Given the description of an element on the screen output the (x, y) to click on. 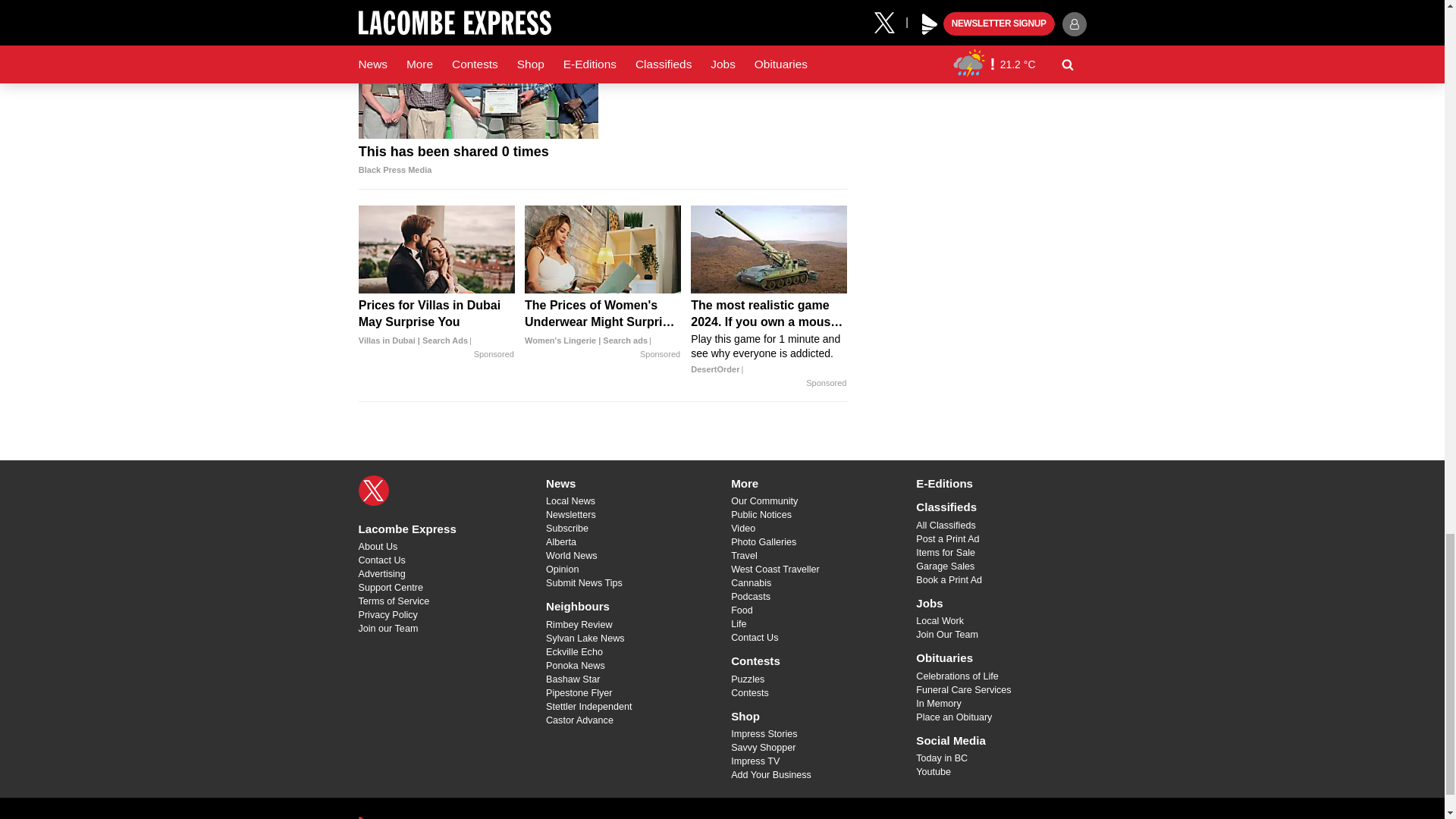
The Prices of Women's Underwear Might Surprise You (602, 322)
Prices for Villas in Dubai May Surprise You (436, 249)
Prices for Villas in Dubai May Surprise You (436, 322)
This has been shared 0 times (478, 160)
This has been shared 0 times (478, 71)
The Prices of Women's Underwear Might Surprise You (602, 249)
